Given the description of an element on the screen output the (x, y) to click on. 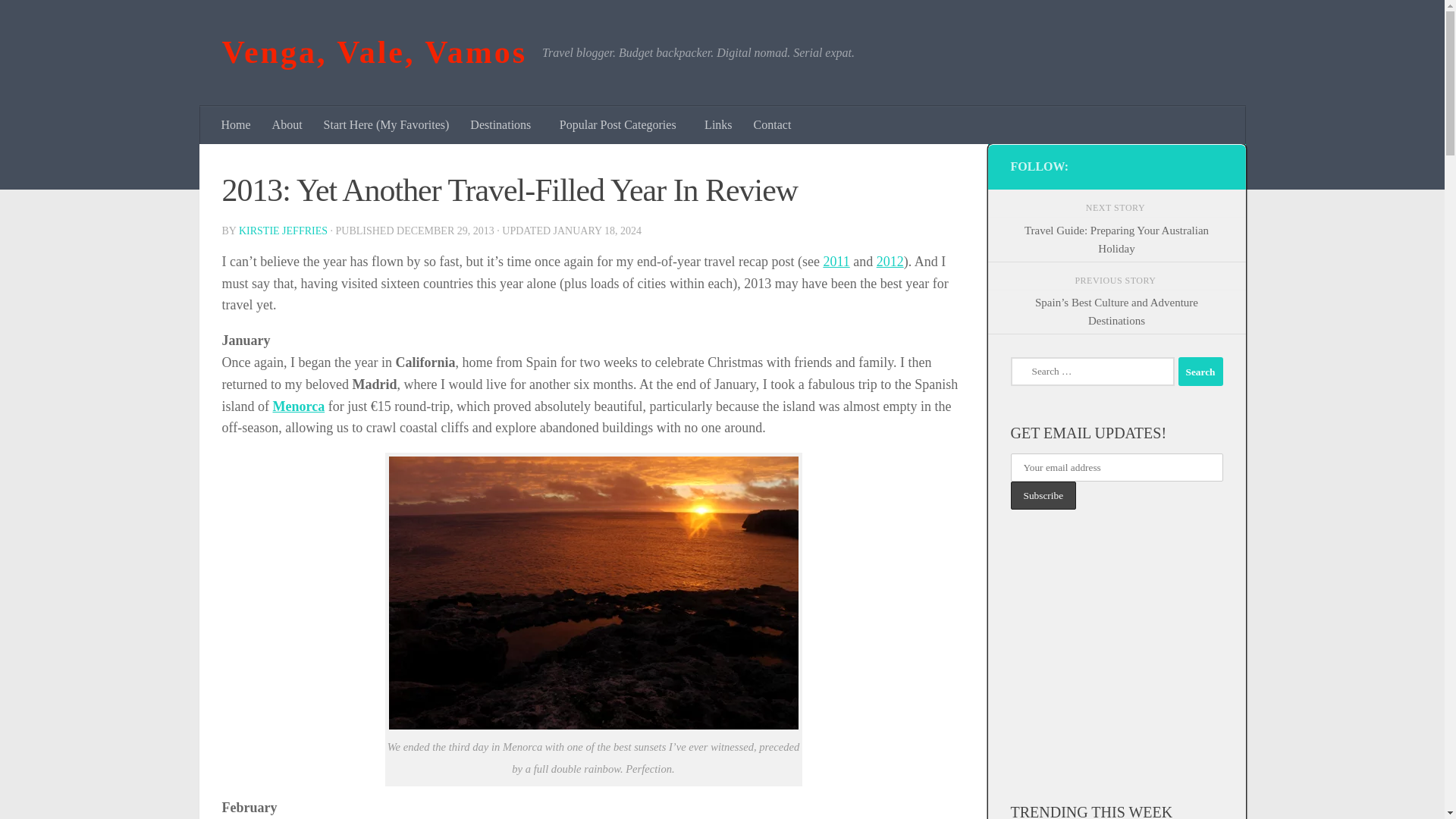
Posts by Kirstie Jeffries (282, 230)
Skip to content (59, 20)
Subscribe (1042, 495)
The Enchanting Winter Ghost Island of Menorca (298, 406)
Search (1200, 371)
2012: Another Travel-Filled Year In Review (890, 261)
2011: A Travel-Filled Year in Review (835, 261)
Search (1200, 371)
